Given the description of an element on the screen output the (x, y) to click on. 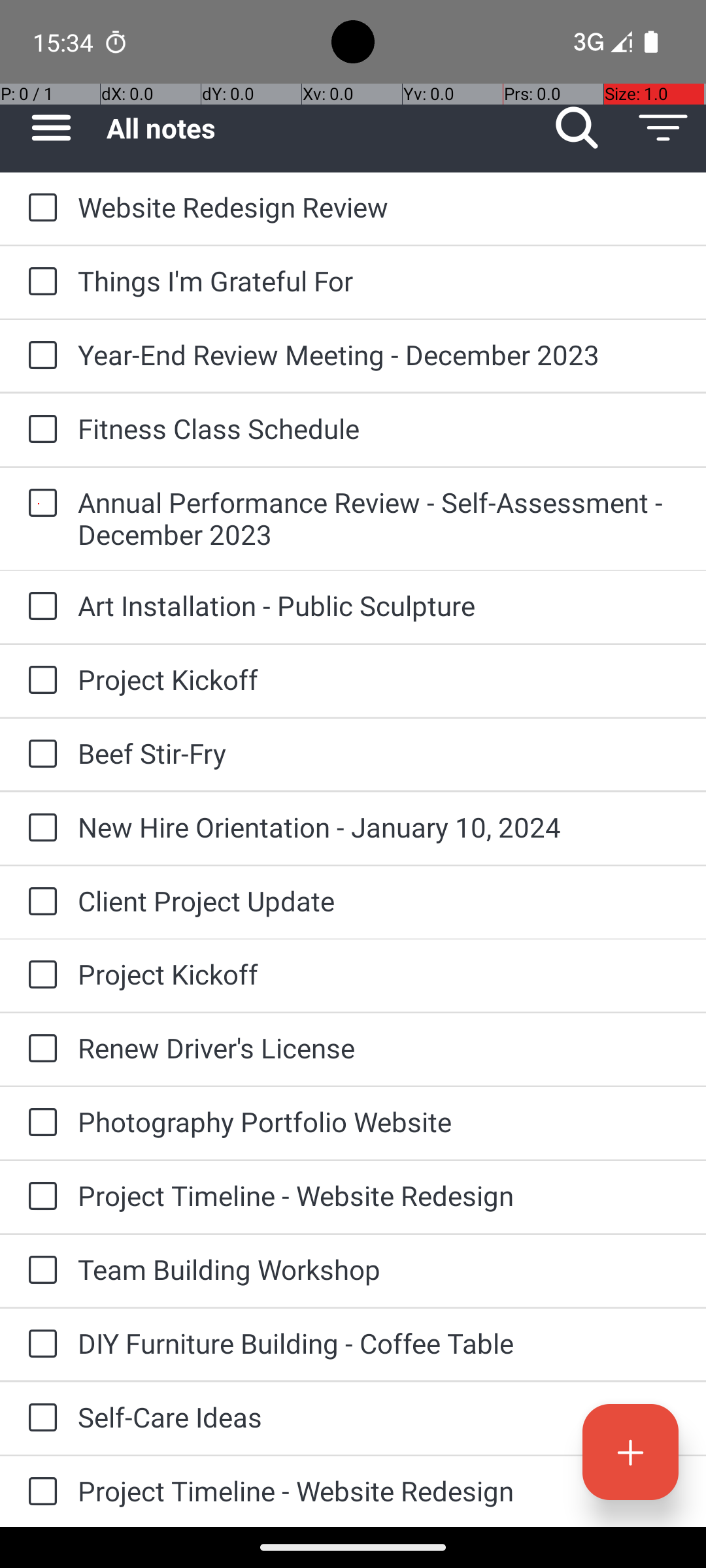
to-do: Website Redesign Review Element type: android.widget.CheckBox (38, 208)
Website Redesign Review Element type: android.widget.TextView (378, 206)
to-do: Things I'm Grateful For Element type: android.widget.CheckBox (38, 282)
Things I'm Grateful For Element type: android.widget.TextView (378, 280)
to-do: Year-End Review Meeting - December 2023 Element type: android.widget.CheckBox (38, 356)
Year-End Review Meeting - December 2023 Element type: android.widget.TextView (378, 354)
to-do: Art Installation - Public Sculpture Element type: android.widget.CheckBox (38, 606)
Art Installation - Public Sculpture Element type: android.widget.TextView (378, 604)
to-do: Beef Stir-Fry Element type: android.widget.CheckBox (38, 754)
Beef Stir-Fry Element type: android.widget.TextView (378, 752)
to-do: Client Project Update Element type: android.widget.CheckBox (38, 902)
Client Project Update Element type: android.widget.TextView (378, 900)
to-do: Renew Driver's License Element type: android.widget.CheckBox (38, 1049)
to-do: Photography Portfolio Website Element type: android.widget.CheckBox (38, 1123)
Photography Portfolio Website Element type: android.widget.TextView (378, 1121)
to-do: Team Building Workshop Element type: android.widget.CheckBox (38, 1270)
Team Building Workshop Element type: android.widget.TextView (378, 1268)
to-do: DIY Furniture Building - Coffee Table Element type: android.widget.CheckBox (38, 1344)
DIY Furniture Building - Coffee Table Element type: android.widget.TextView (378, 1342)
to-do: Self-Care Ideas Element type: android.widget.CheckBox (38, 1418)
Self-Care Ideas Element type: android.widget.TextView (378, 1416)
